Given the description of an element on the screen output the (x, y) to click on. 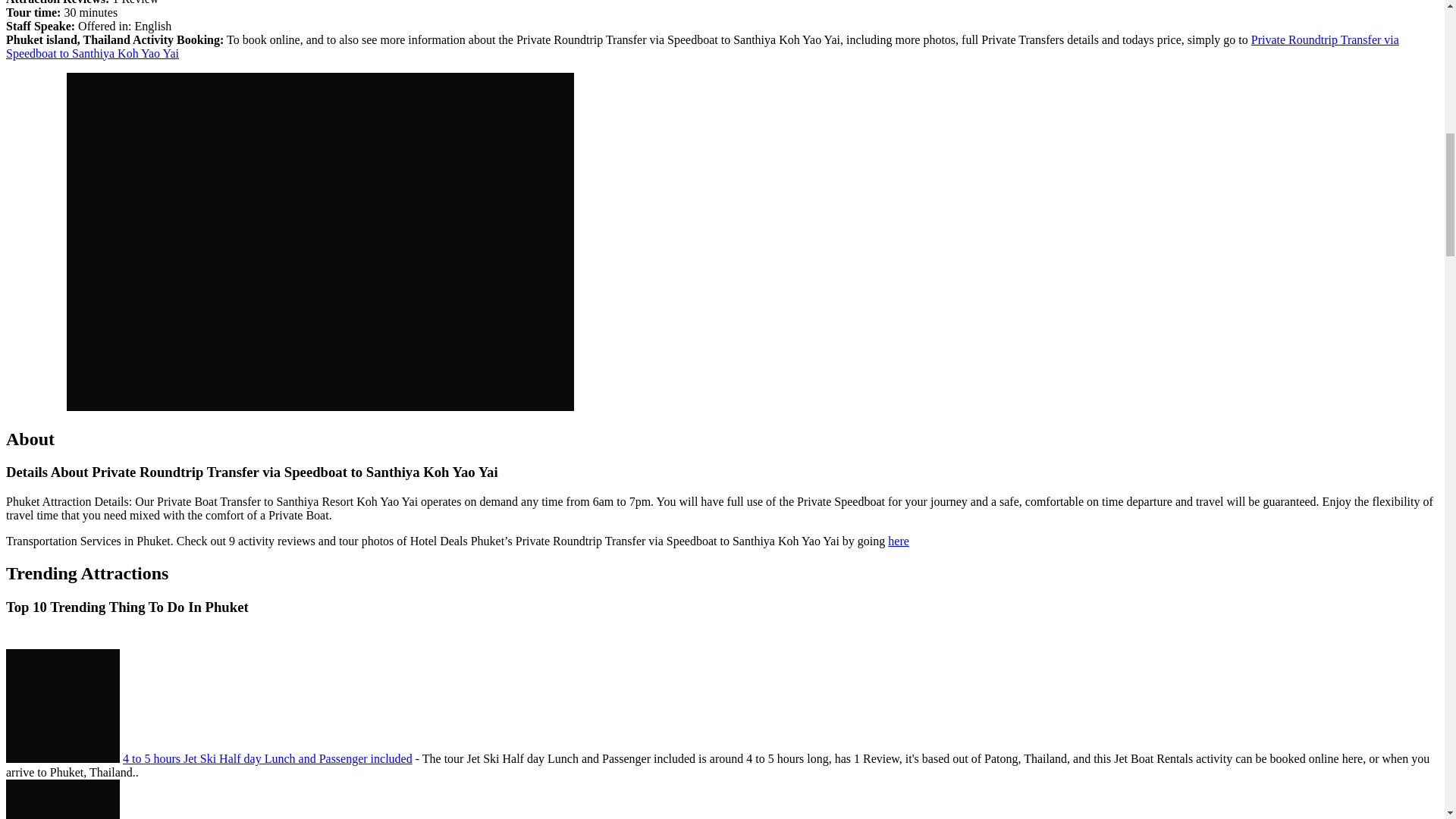
here (898, 540)
4 to 5 hours Jet Ski Half day Lunch and Passenger included (267, 758)
Similan Islands by Speedboat from Phuket - Day Trips (62, 799)
